Given the description of an element on the screen output the (x, y) to click on. 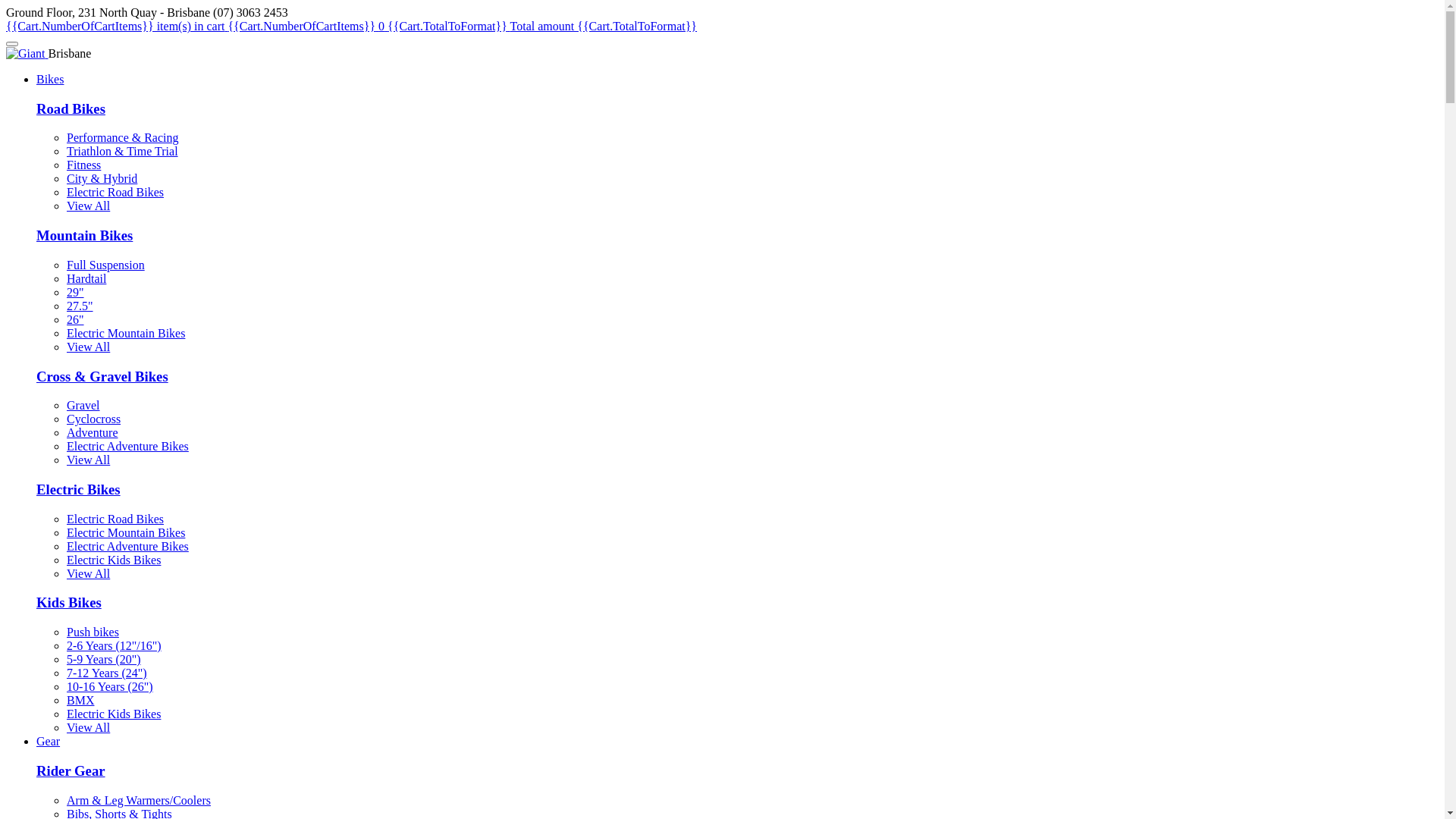
Electric Adventure Bikes Element type: text (127, 545)
Arm & Leg Warmers/Coolers Element type: text (138, 799)
10-16 Years (26") Element type: text (109, 686)
26" Element type: text (75, 319)
Electric Road Bikes Element type: text (114, 518)
Kids Bikes Element type: text (68, 602)
Electric Road Bikes Element type: text (114, 191)
27.5" Element type: text (79, 305)
Performance & Racing Element type: text (122, 137)
Electric Kids Bikes Element type: text (113, 559)
Rider Gear Element type: text (70, 770)
Electric Mountain Bikes Element type: text (125, 332)
View All Element type: text (87, 573)
Road Bikes Element type: text (70, 108)
Electric Adventure Bikes Element type: text (127, 445)
BMX Element type: text (80, 699)
Cross & Gravel Bikes Element type: text (102, 376)
Full Suspension Element type: text (105, 264)
View All Element type: text (87, 459)
Electric Mountain Bikes Element type: text (125, 532)
View All Element type: text (87, 205)
View All Element type: text (87, 346)
Gear Element type: text (47, 740)
Electric Kids Bikes Element type: text (113, 713)
Bikes Element type: text (49, 78)
Hardtail Element type: text (86, 278)
Adventure Element type: text (92, 432)
2-6 Years (12"/16") Element type: text (113, 645)
29" Element type: text (75, 291)
7-12 Years (24") Element type: text (106, 672)
View All Element type: text (87, 727)
Cyclocross Element type: text (93, 418)
Triathlon & Time Trial Element type: text (122, 150)
5-9 Years (20") Element type: text (103, 658)
Mountain Bikes Element type: text (84, 235)
Fitness Element type: text (83, 164)
City & Hybrid Element type: text (101, 178)
Electric Bikes Element type: text (78, 489)
Gravel Element type: text (83, 404)
Push bikes Element type: text (92, 631)
